Given the description of an element on the screen output the (x, y) to click on. 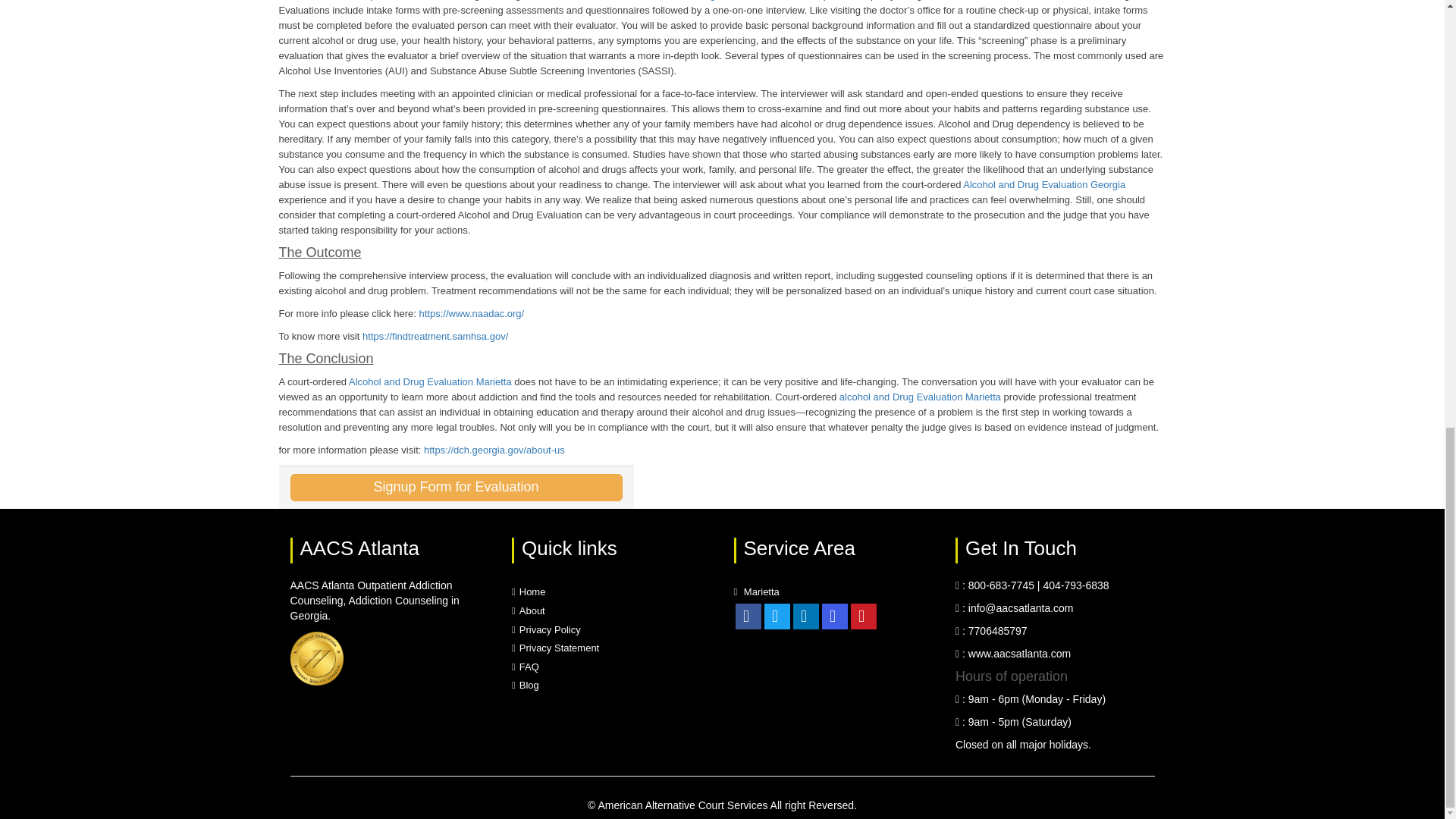
linkedin (805, 616)
pinterest (863, 616)
instagam (834, 616)
twitter (777, 616)
facebook (748, 616)
